Given the description of an element on the screen output the (x, y) to click on. 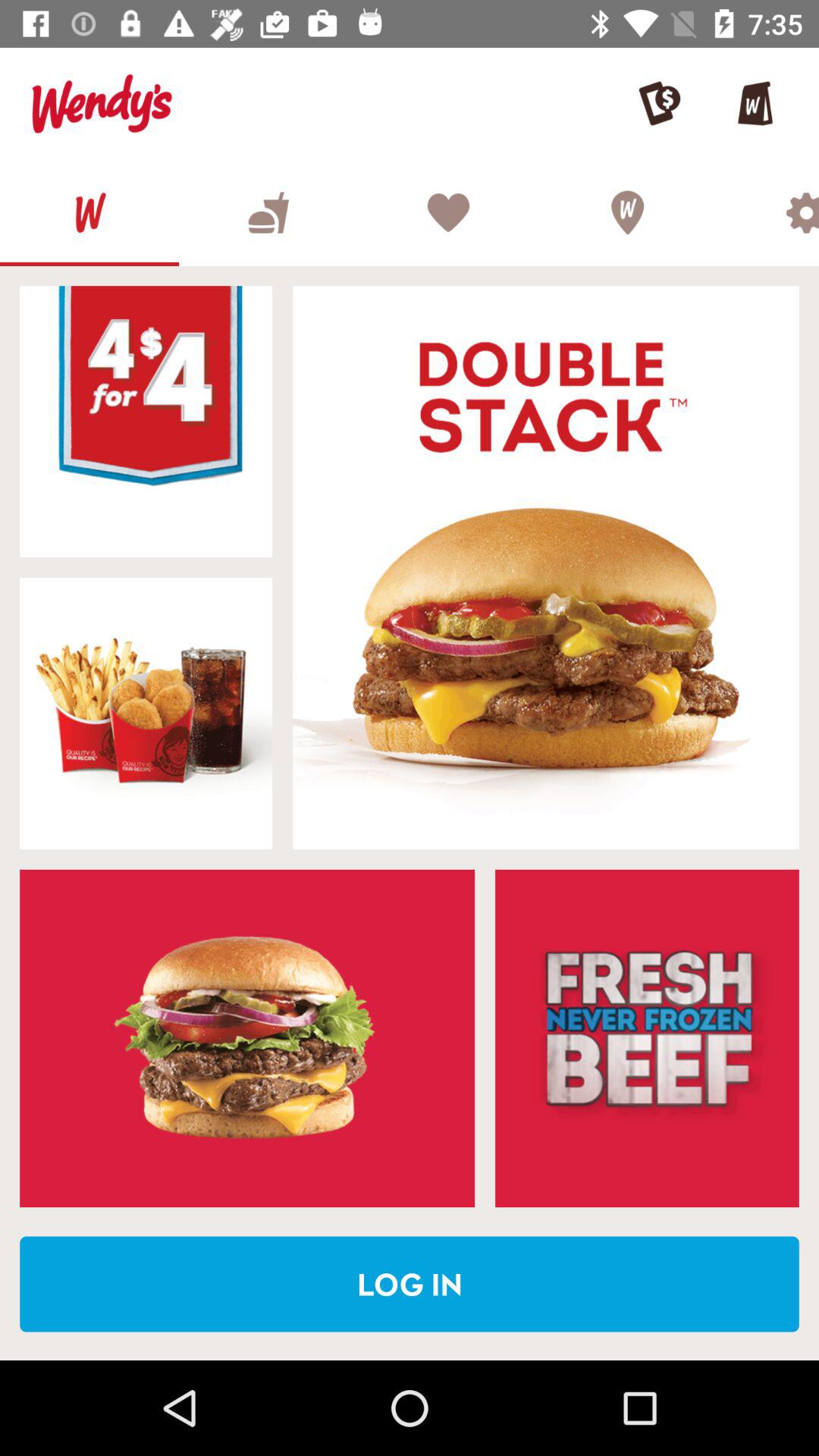
select an item (145, 713)
